Given the description of an element on the screen output the (x, y) to click on. 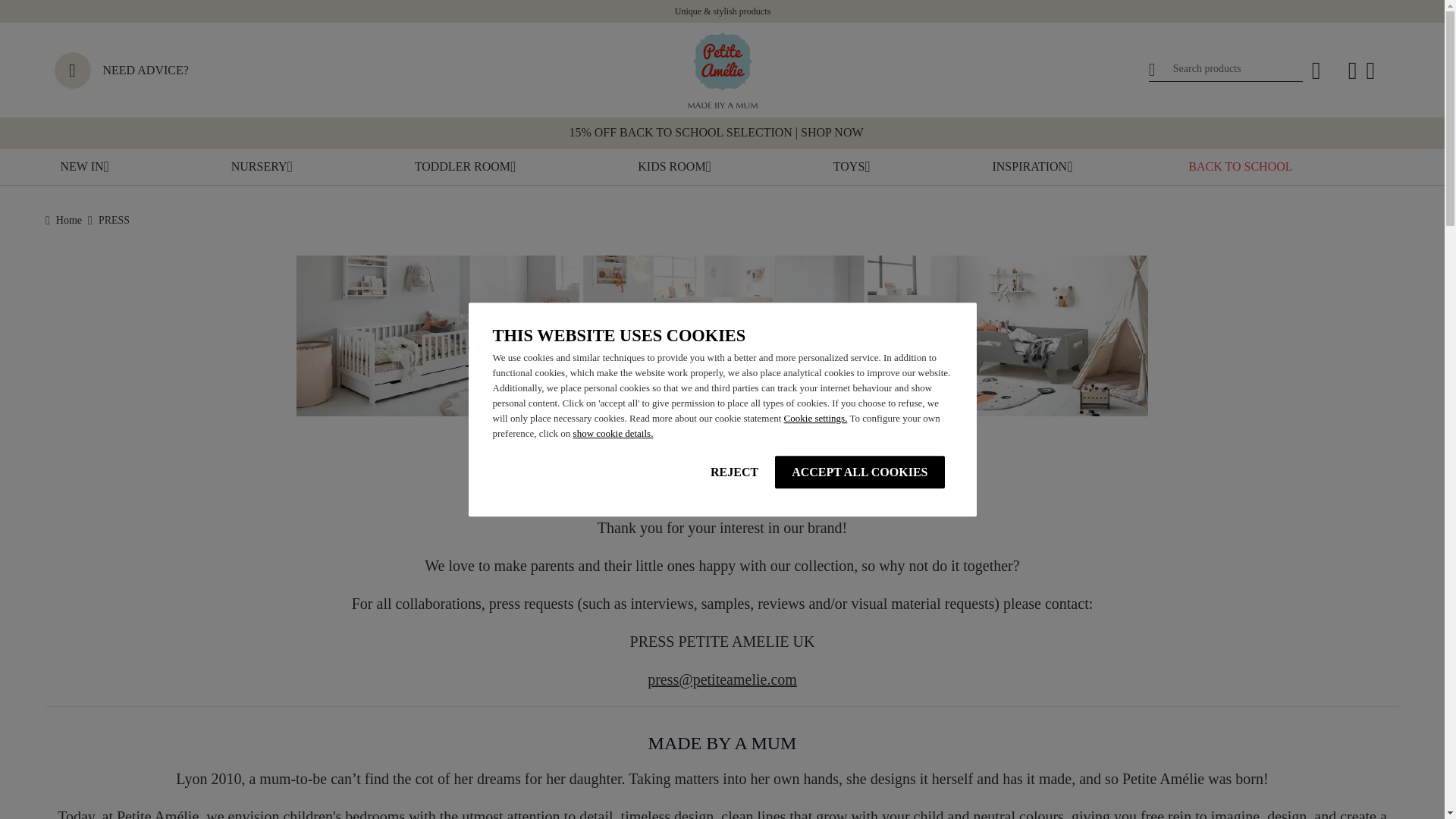
ACCEPT ALL COOKIES (858, 471)
Cookie settings. (815, 418)
show cookie details. (613, 432)
REJECT (734, 471)
